Given the description of an element on the screen output the (x, y) to click on. 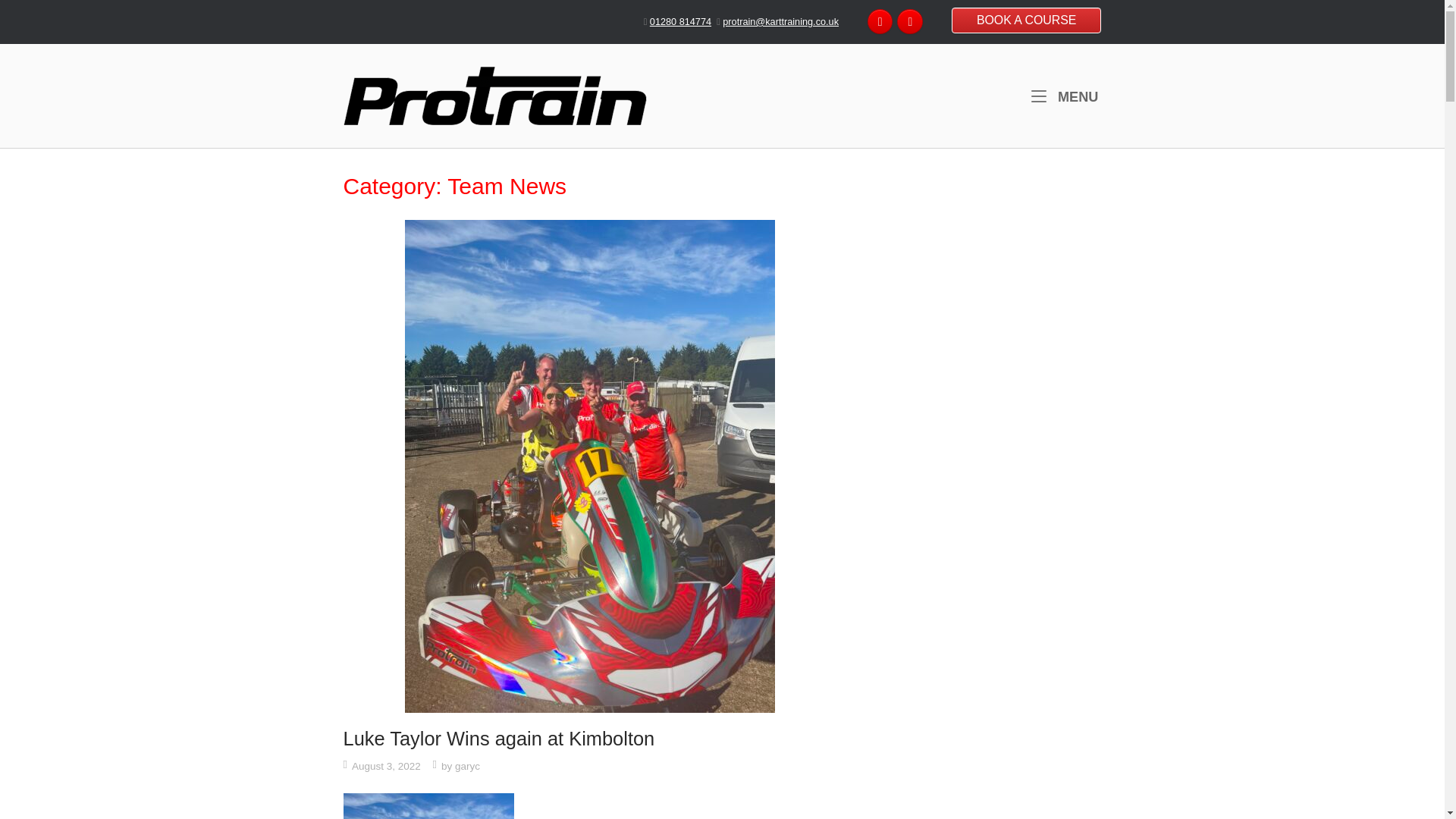
01280 814774 (680, 21)
BOOK A COURSE (1027, 20)
Home (494, 94)
Protrain on X Twitter (1063, 97)
Protrain on Facebook (909, 22)
